Given the description of an element on the screen output the (x, y) to click on. 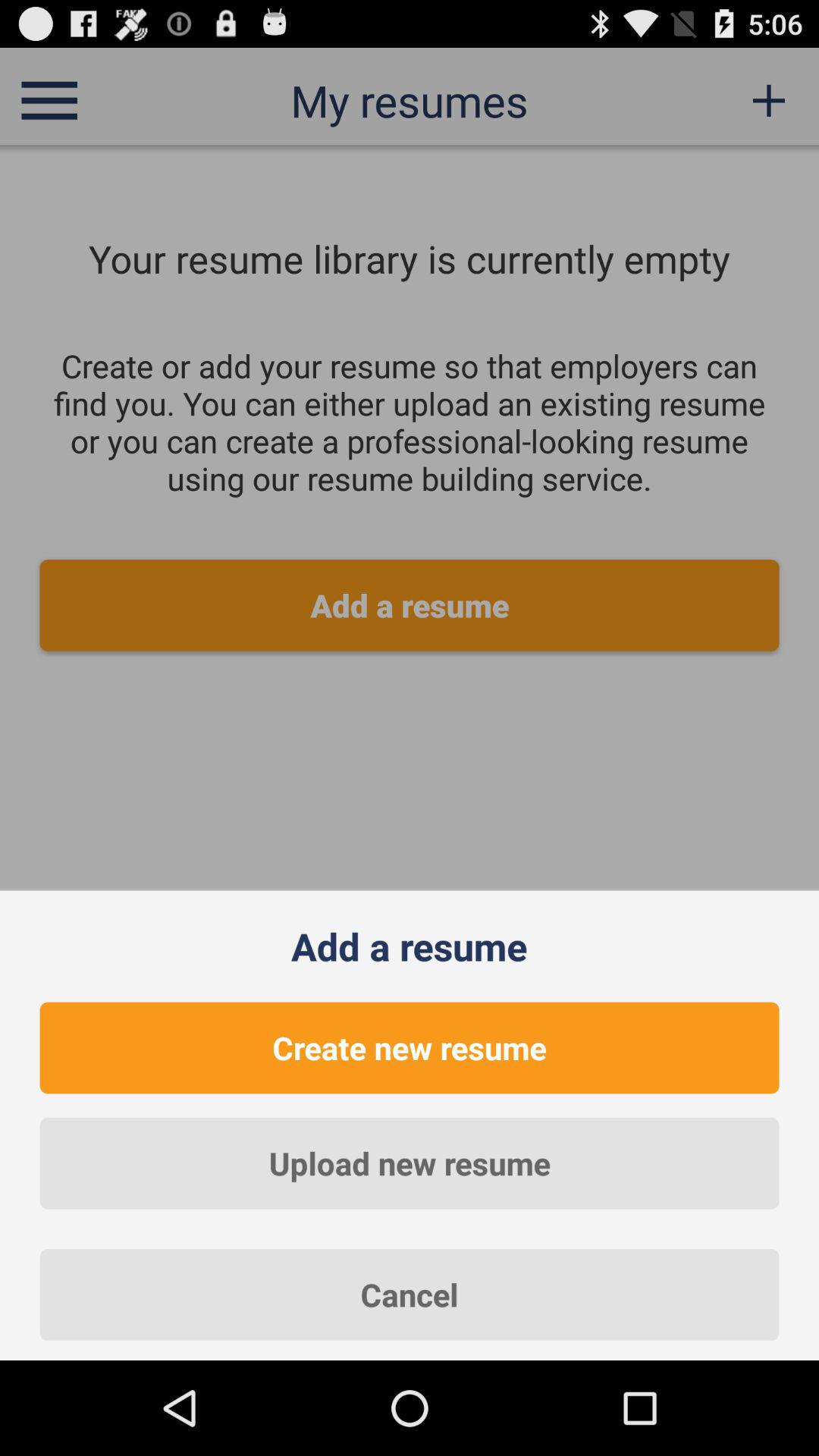
jump until cancel button (409, 1294)
